Given the description of an element on the screen output the (x, y) to click on. 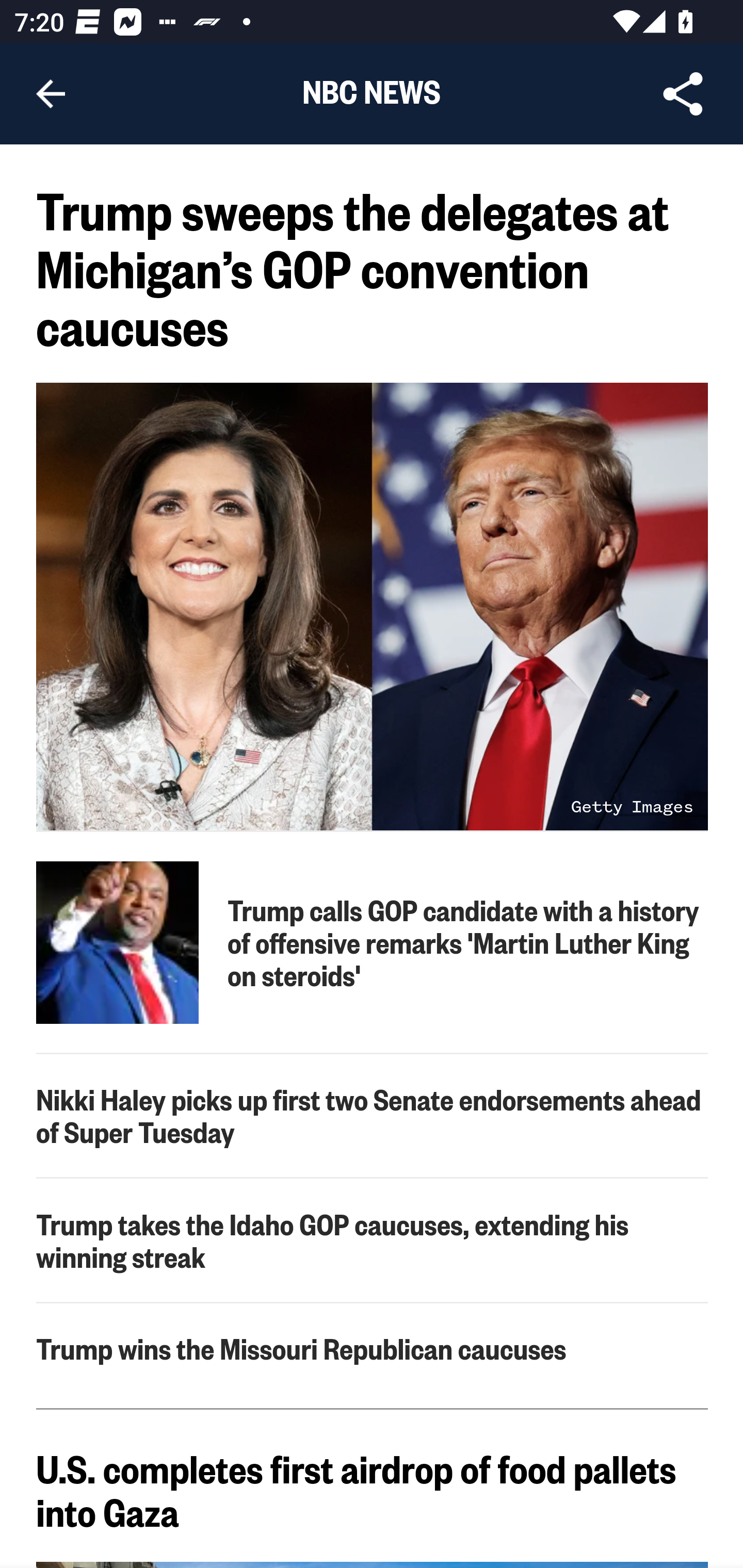
Navigate up (50, 93)
Share Article, button (683, 94)
Trump wins the Missouri Republican caucuses (372, 1348)
